Given the description of an element on the screen output the (x, y) to click on. 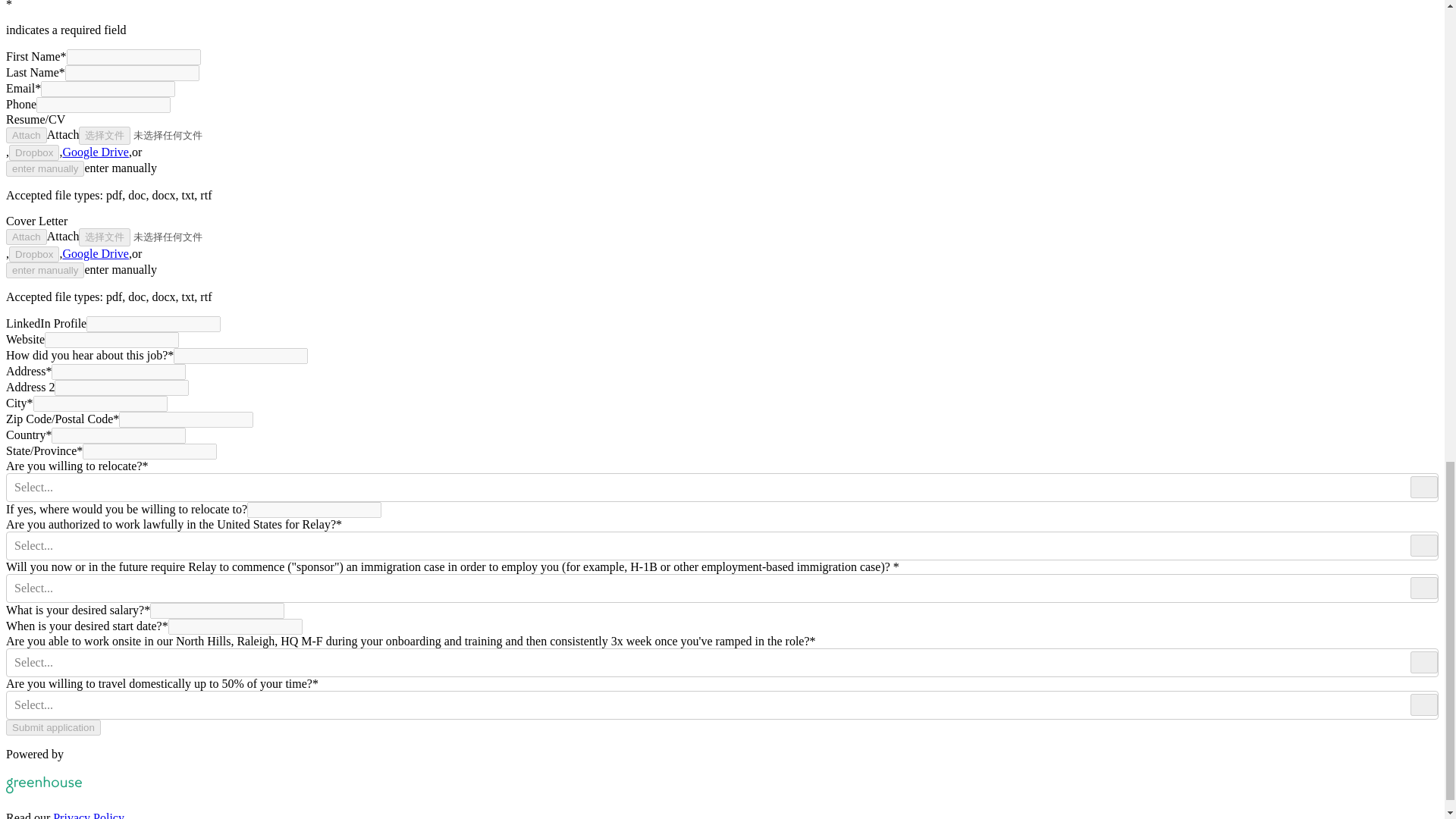
Dropbox (33, 254)
enter manually (44, 270)
enter manually (44, 168)
Google Drive (95, 253)
Dropbox (33, 152)
Attach (25, 236)
Google Drive (95, 151)
Attach (25, 135)
Submit application (52, 727)
